Given the description of an element on the screen output the (x, y) to click on. 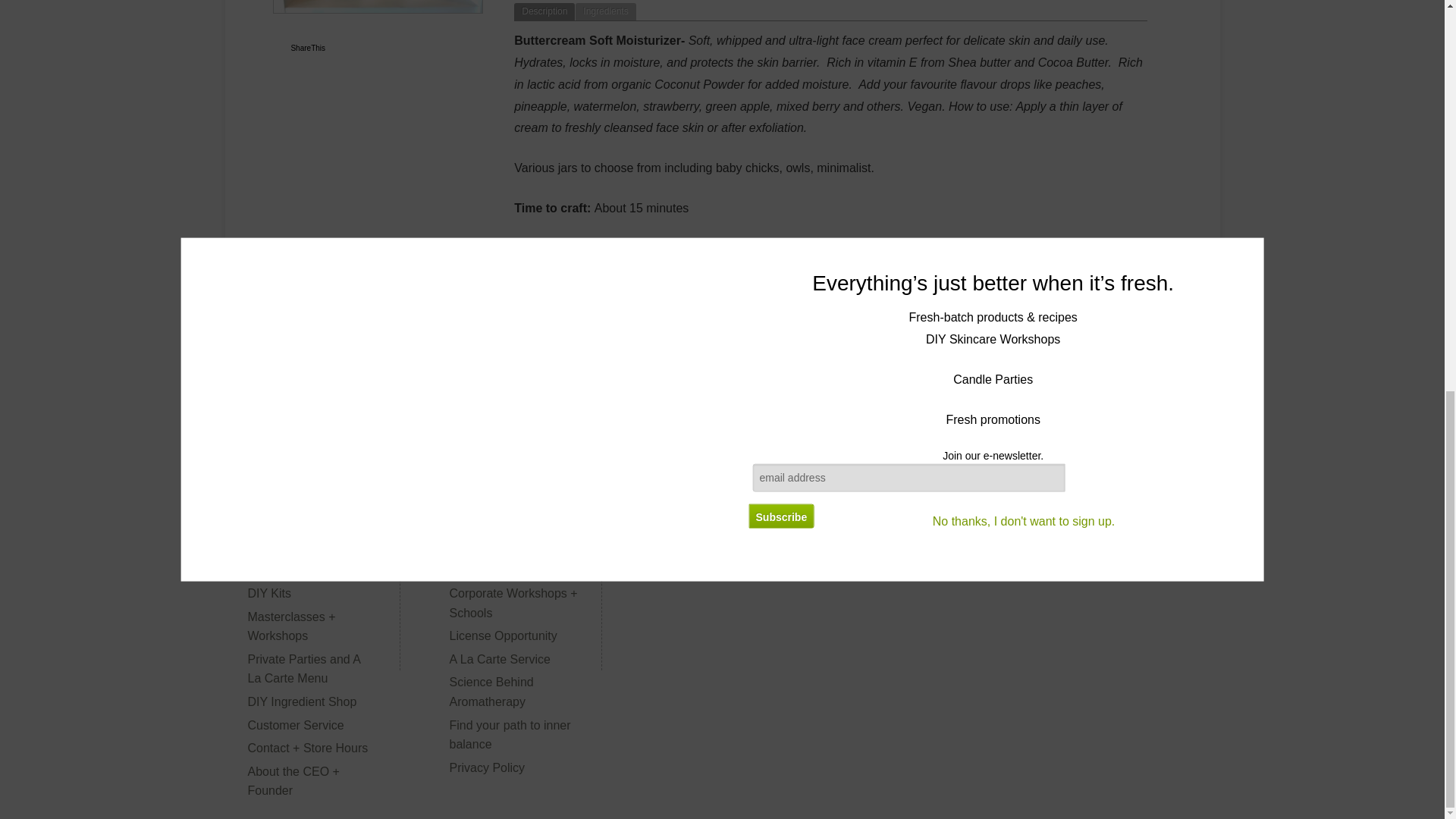
A La Carte: Buttercream Soft Moisturizer (378, 6)
